Given the description of an element on the screen output the (x, y) to click on. 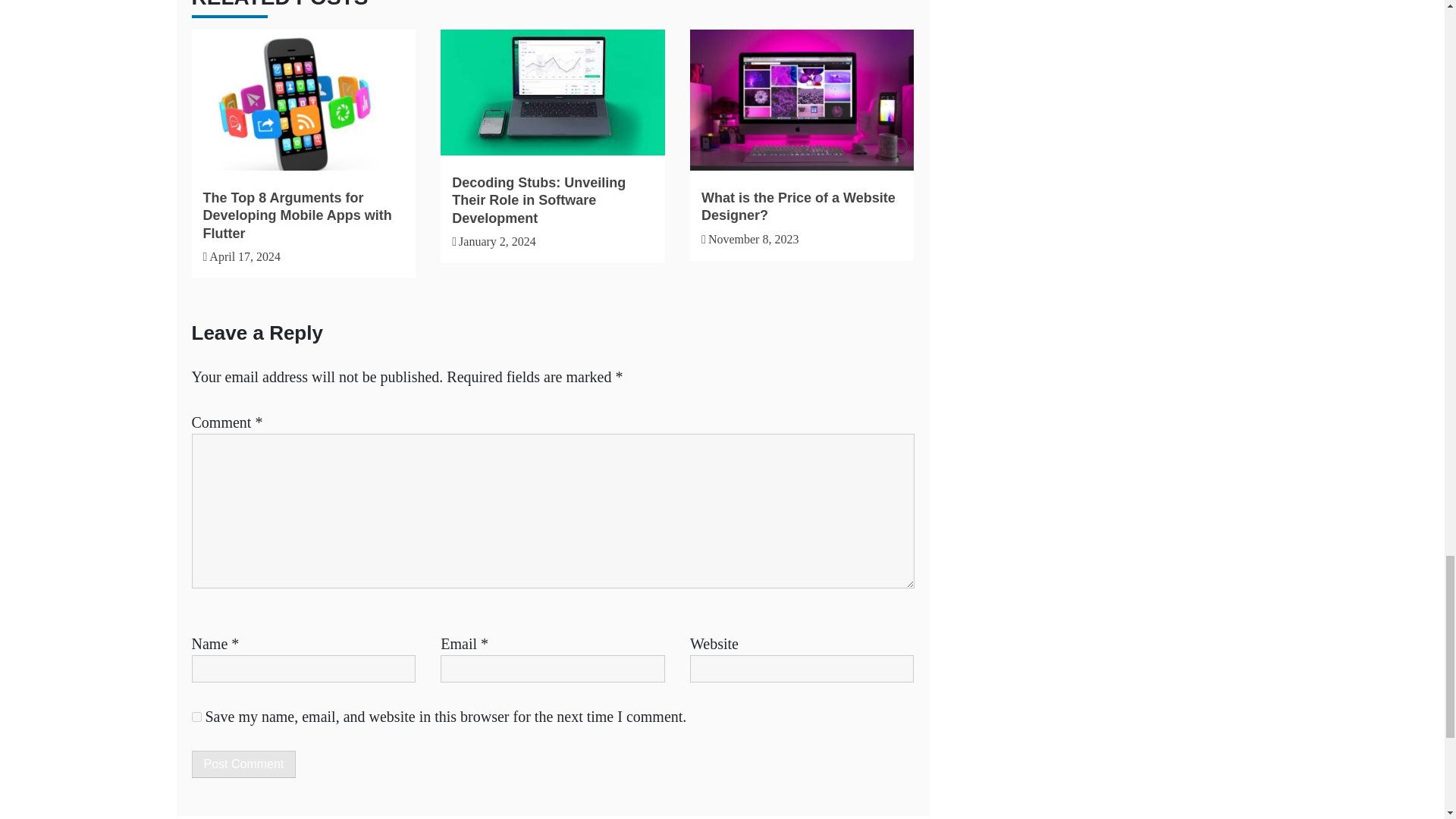
yes (195, 716)
The Top 8 Arguments for Developing Mobile Apps with Flutter (297, 215)
April 17, 2024 (245, 256)
Post Comment (242, 764)
